Given the description of an element on the screen output the (x, y) to click on. 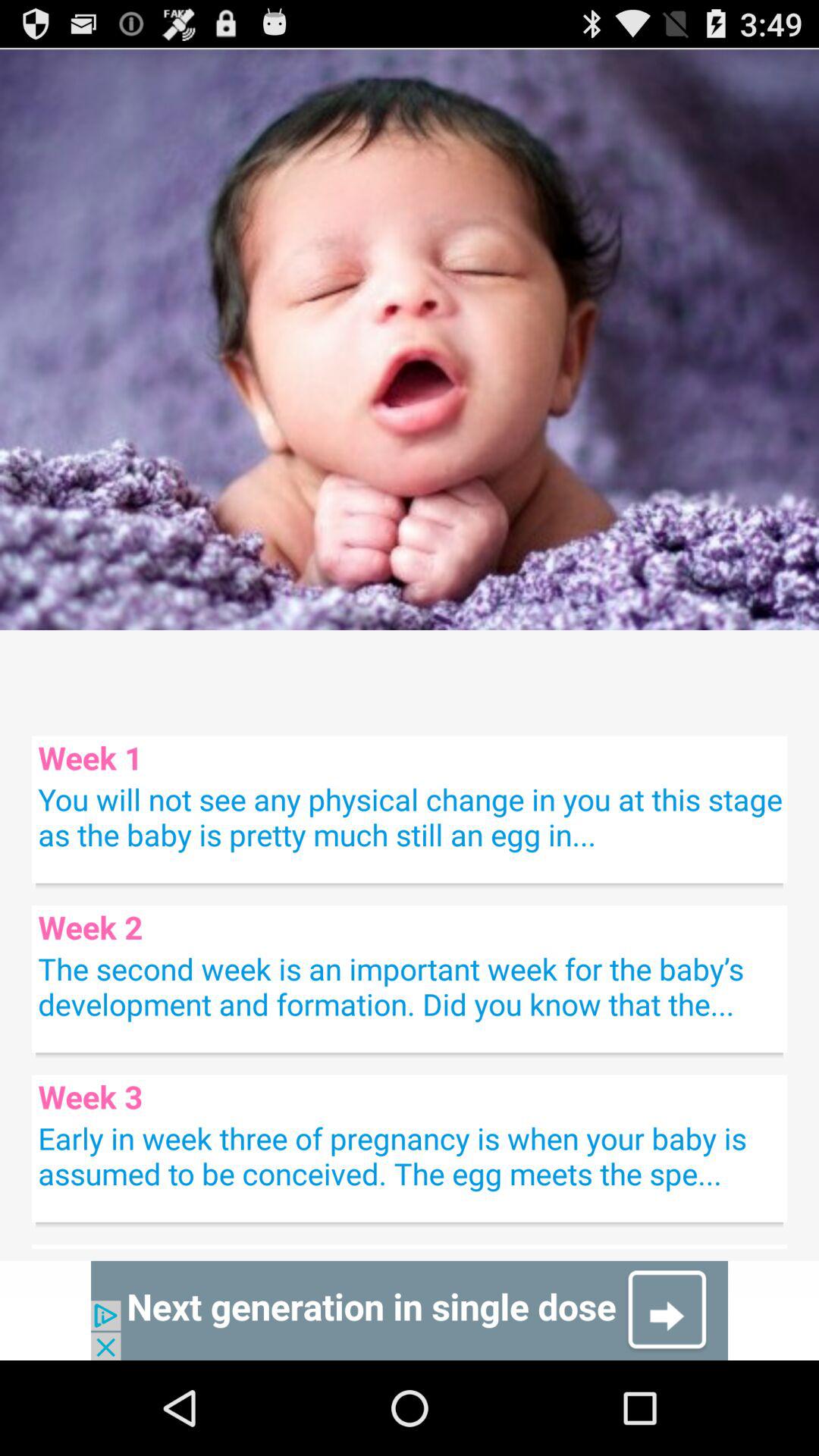
next (409, 1310)
